Given the description of an element on the screen output the (x, y) to click on. 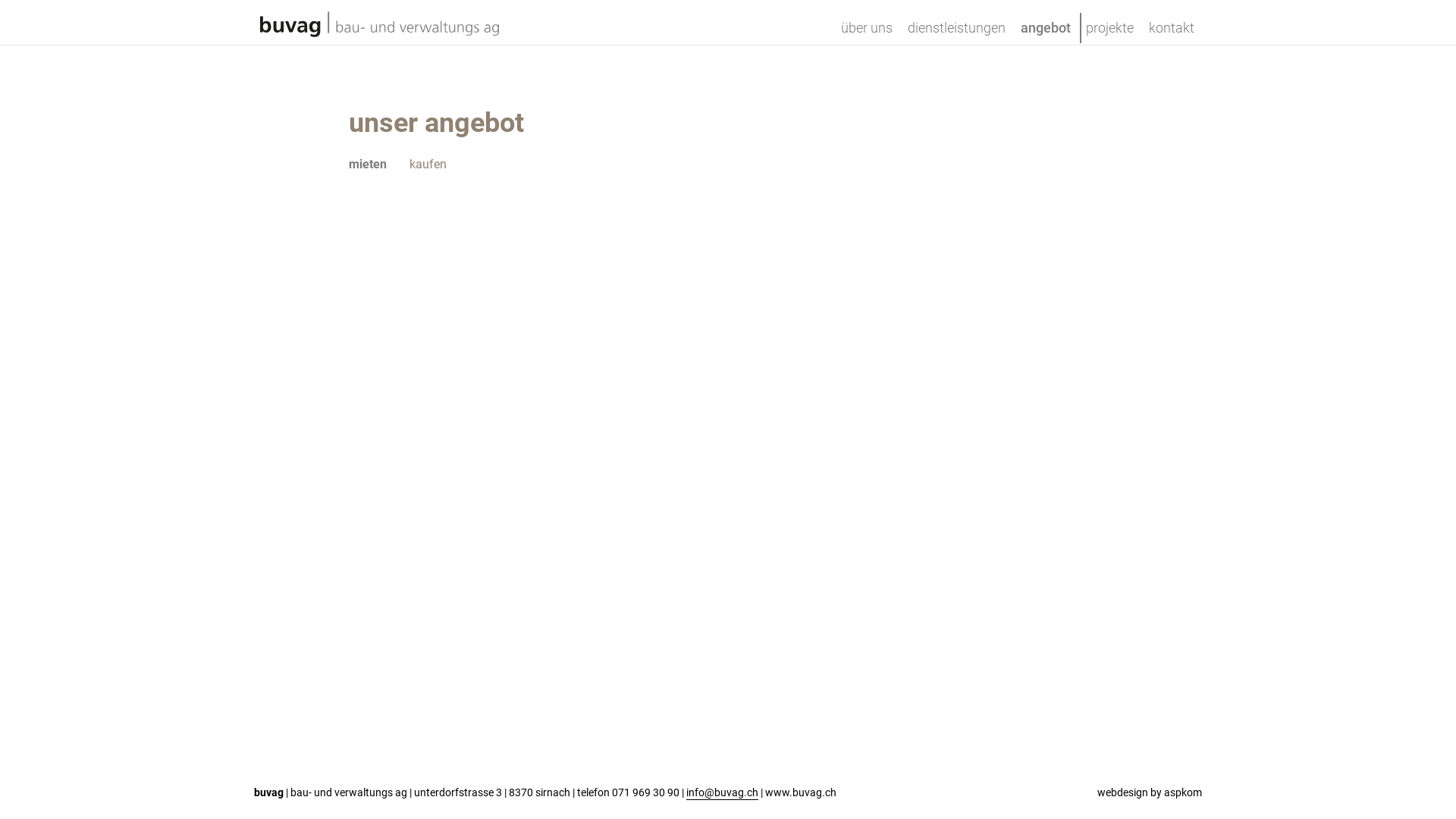
071 969 30 90 Element type: text (645, 792)
angebot Element type: text (1045, 33)
dienstleistungen Element type: text (956, 33)
kontakt Element type: text (1171, 33)
projekte Element type: text (1109, 33)
kaufen Element type: text (427, 163)
www.buvag.ch Element type: text (800, 792)
webdesign by aspkom Element type: text (1149, 792)
info@buvag.ch Element type: text (722, 793)
mieten Element type: text (367, 163)
